Given the description of an element on the screen output the (x, y) to click on. 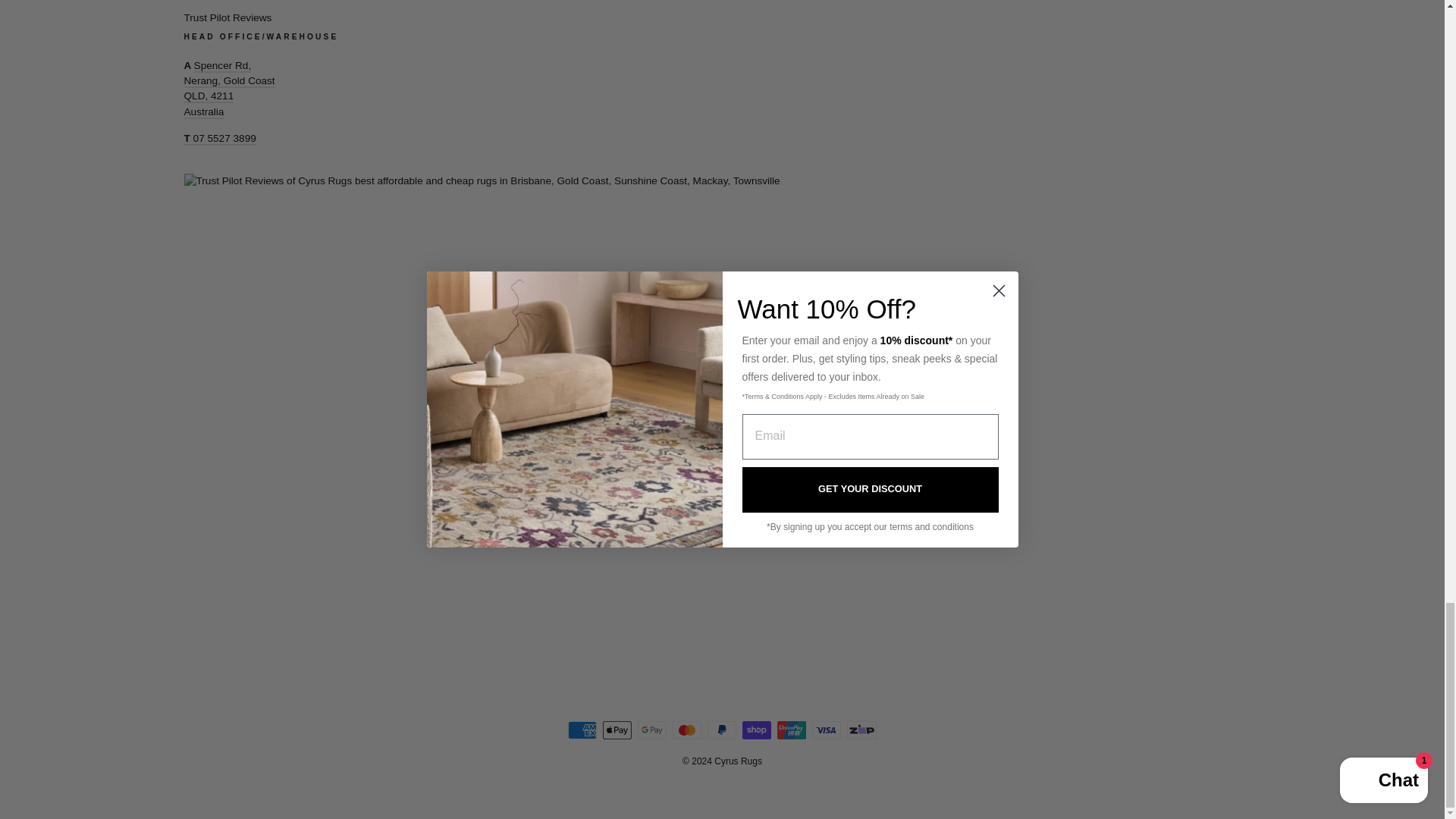
Click to Call Cyrus Rugs HQ (219, 138)
Mastercard (686, 730)
Directions (229, 88)
Union Pay (791, 730)
PayPal (721, 730)
Apple Pay (616, 730)
American Express (581, 730)
Google Pay (651, 730)
Visa (826, 730)
Shop Pay (756, 730)
